Given the description of an element on the screen output the (x, y) to click on. 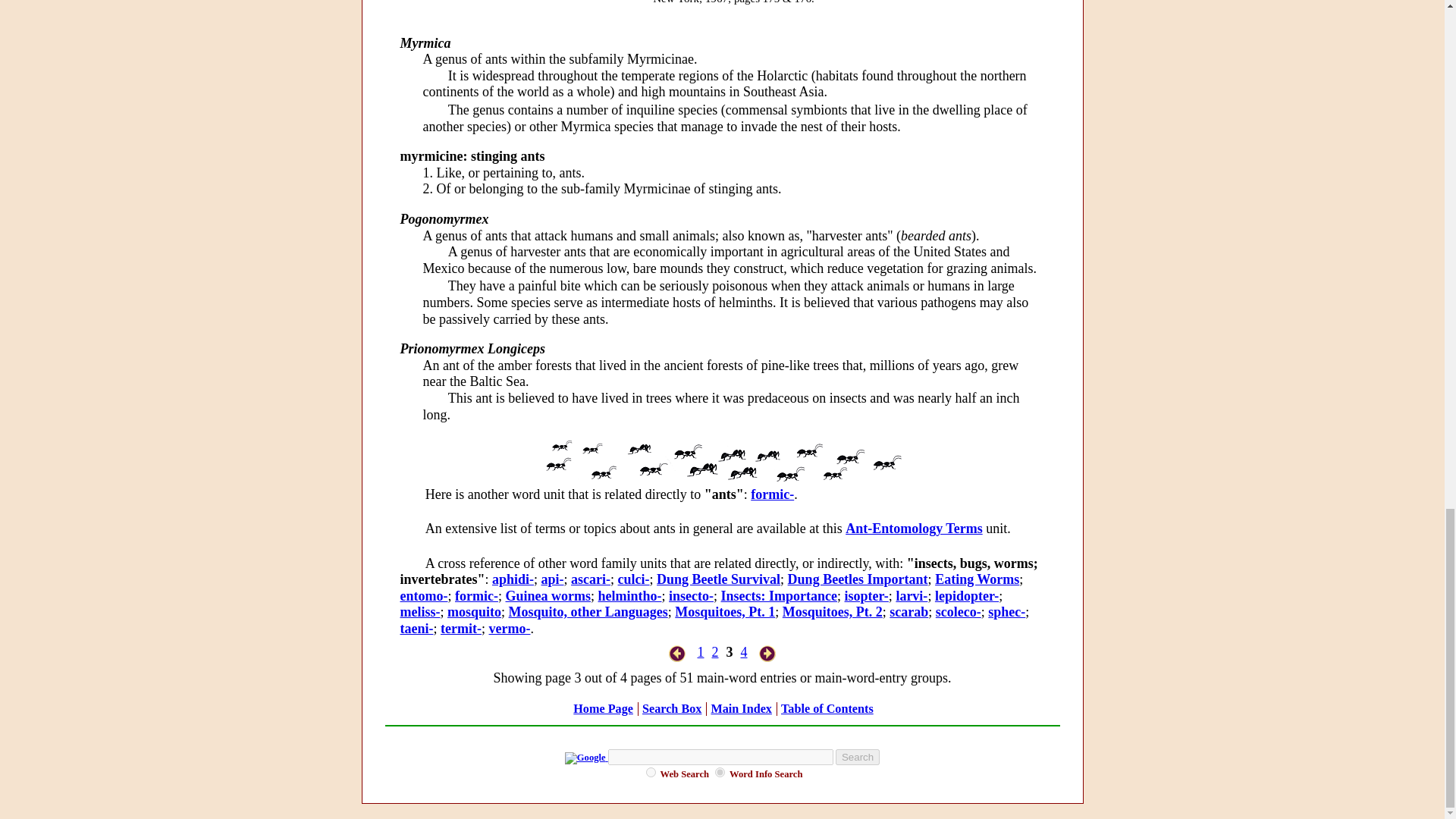
scarab (908, 611)
larvi- (911, 595)
scoleco- (958, 611)
Home Page (603, 708)
Dung Beetle Survival (718, 579)
Search (857, 756)
Ant-Entomology Terms (913, 528)
Main Index (740, 708)
taeni- (416, 628)
lepidopter- (966, 595)
insecto- (690, 595)
api- (552, 579)
sphec- (1006, 611)
vermo- (508, 628)
ascari- (590, 579)
